Given the description of an element on the screen output the (x, y) to click on. 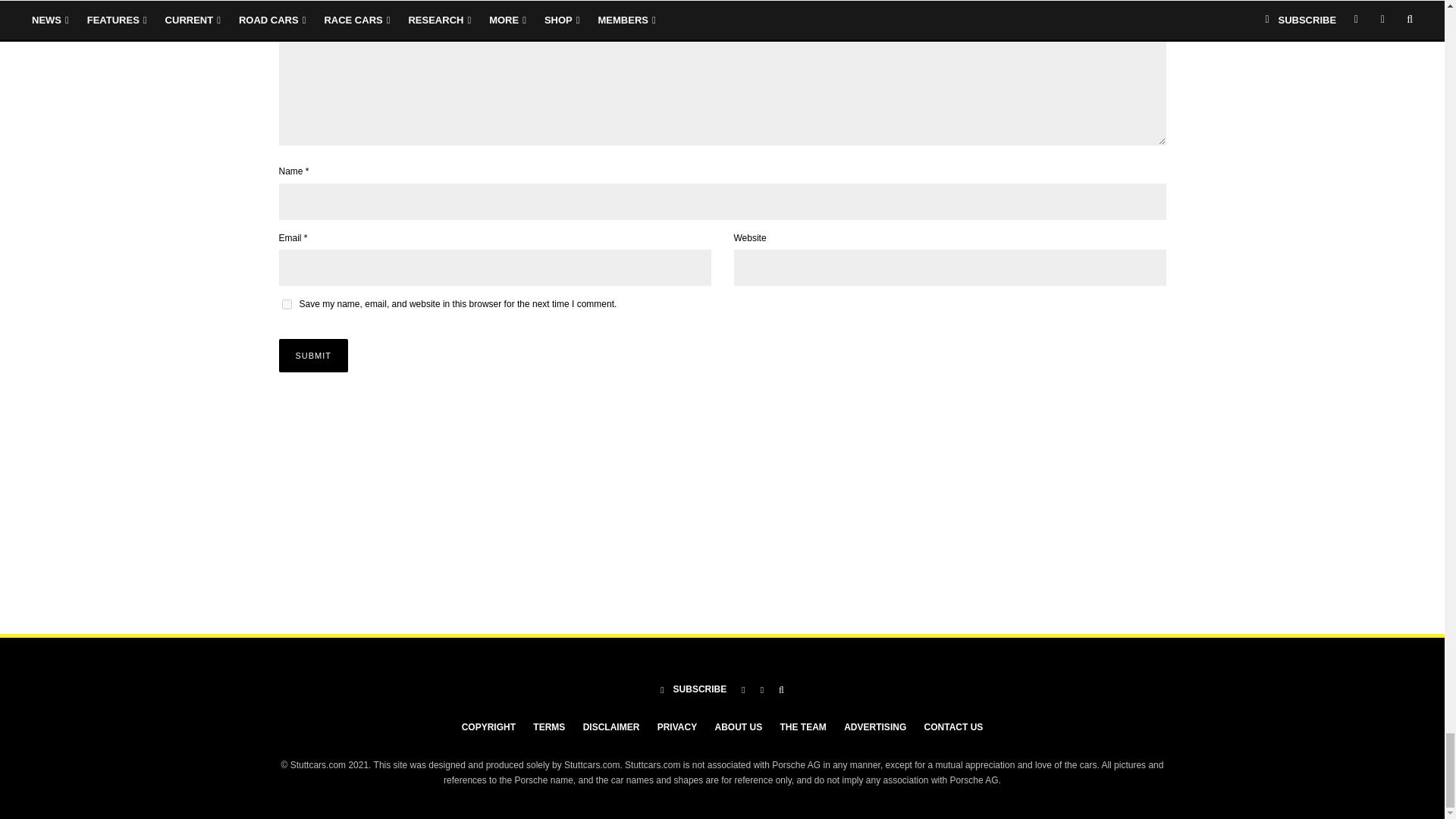
Submit (314, 355)
yes (287, 304)
